Given the description of an element on the screen output the (x, y) to click on. 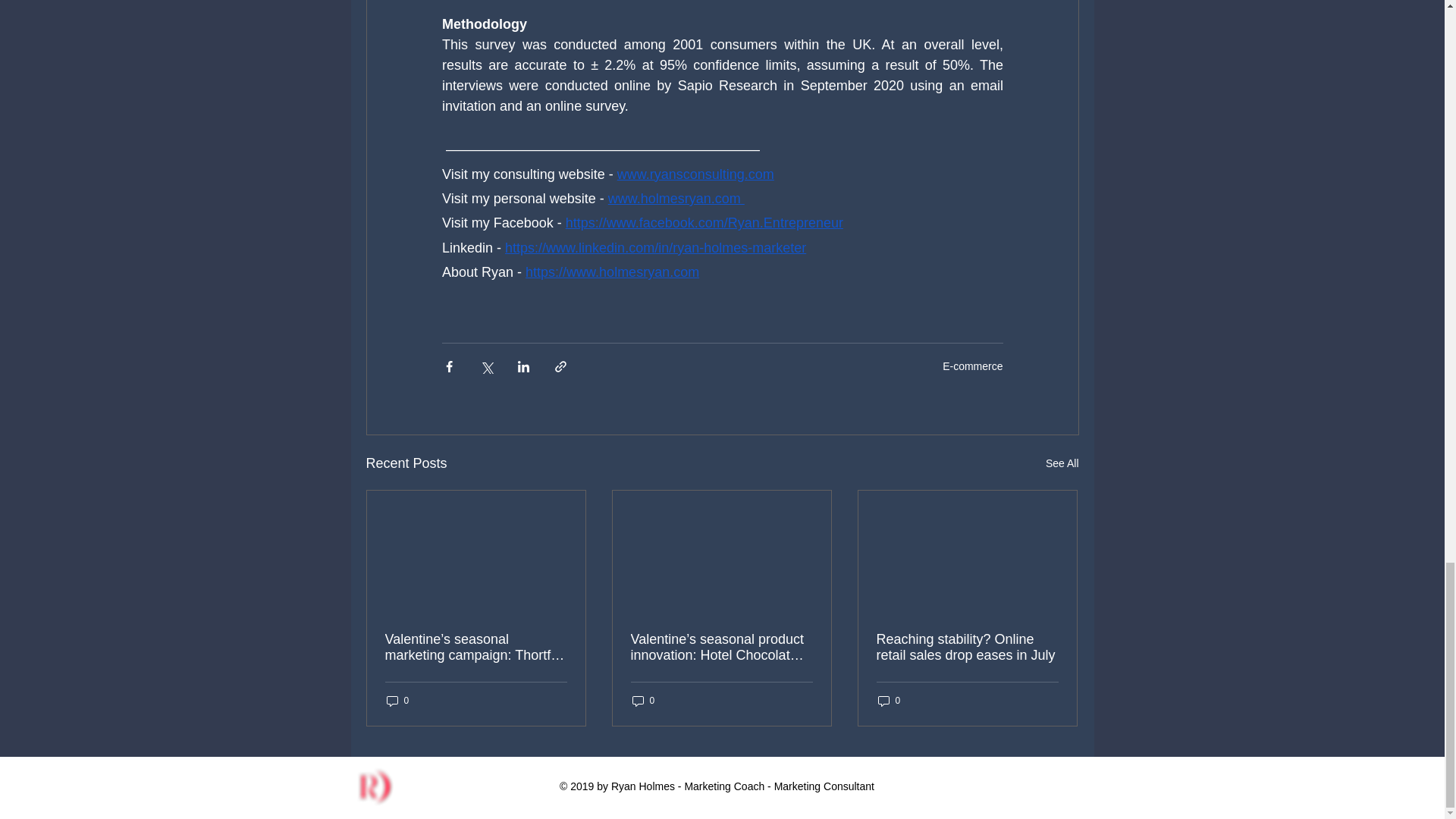
LOGO RYANHOLMES 2.png (373, 786)
www.ryansconsulting.com (694, 174)
www.holmesryan.com  (675, 198)
